Given the description of an element on the screen output the (x, y) to click on. 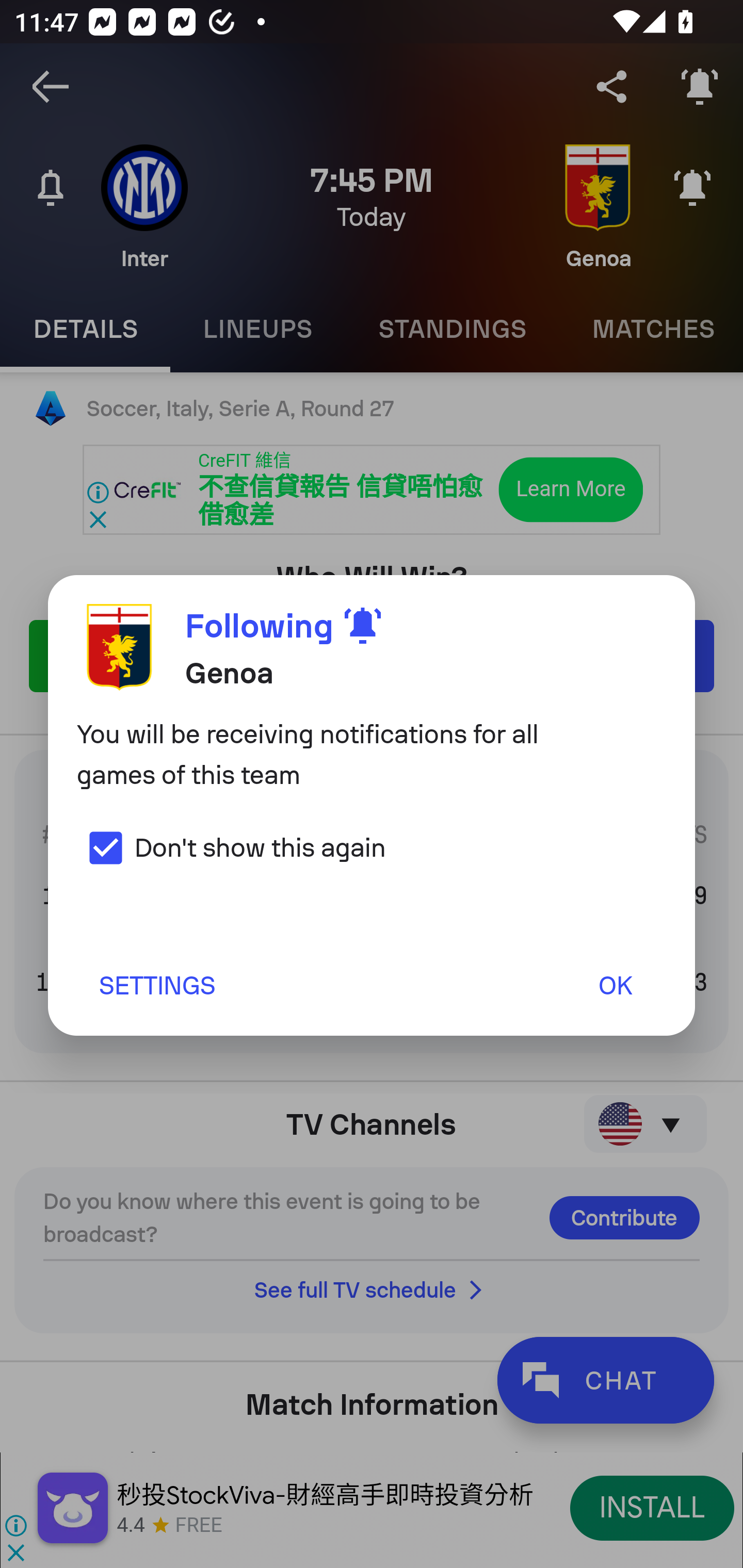
Don't show this again (231, 847)
SETTINGS (156, 985)
OK (615, 985)
